Given the description of an element on the screen output the (x, y) to click on. 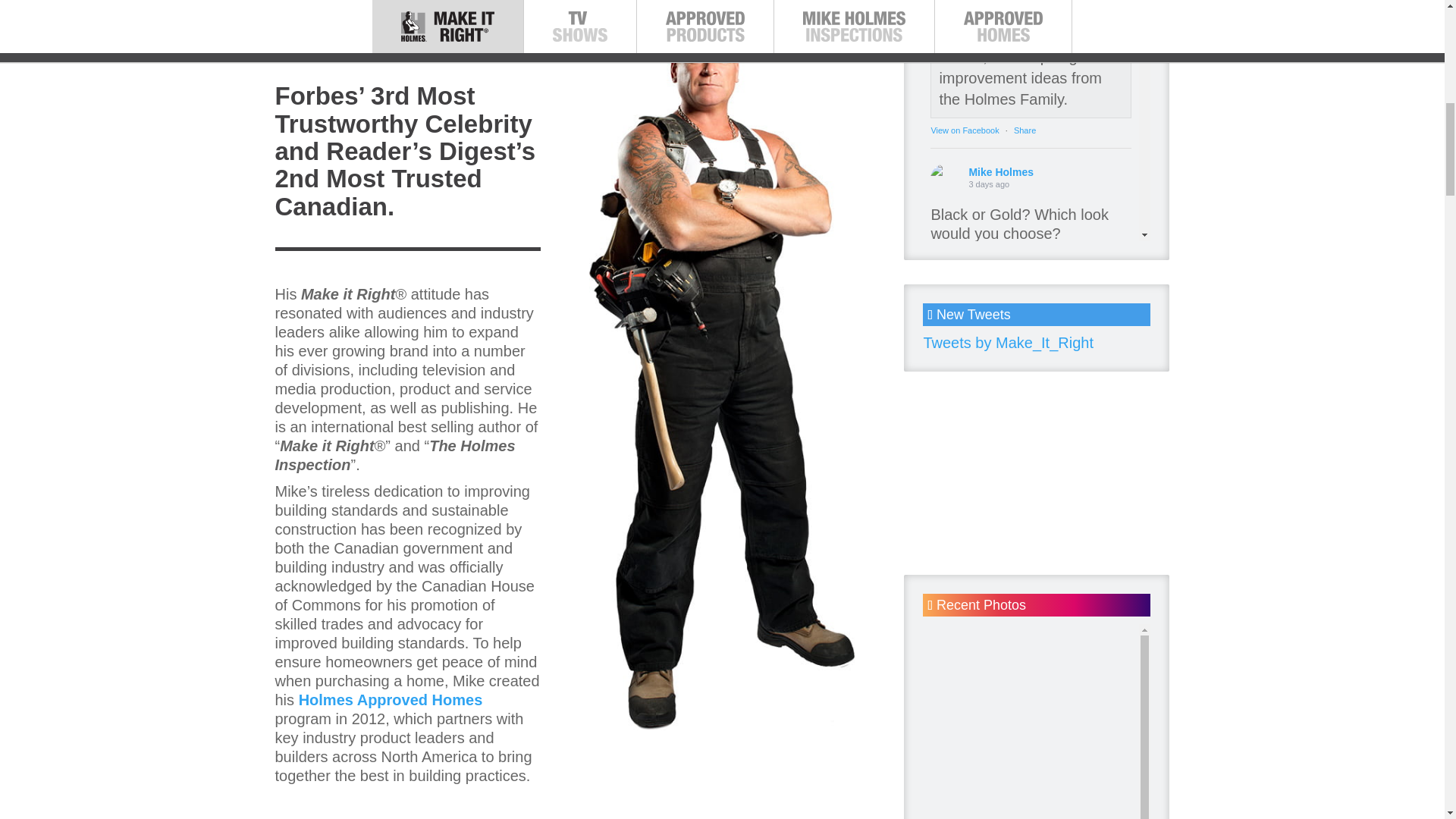
Share (1024, 339)
View on Facebook (964, 130)
Share (1024, 130)
Mike Holmes (945, 388)
View on Facebook (964, 339)
Mike Holmes (945, 178)
